Given the description of an element on the screen output the (x, y) to click on. 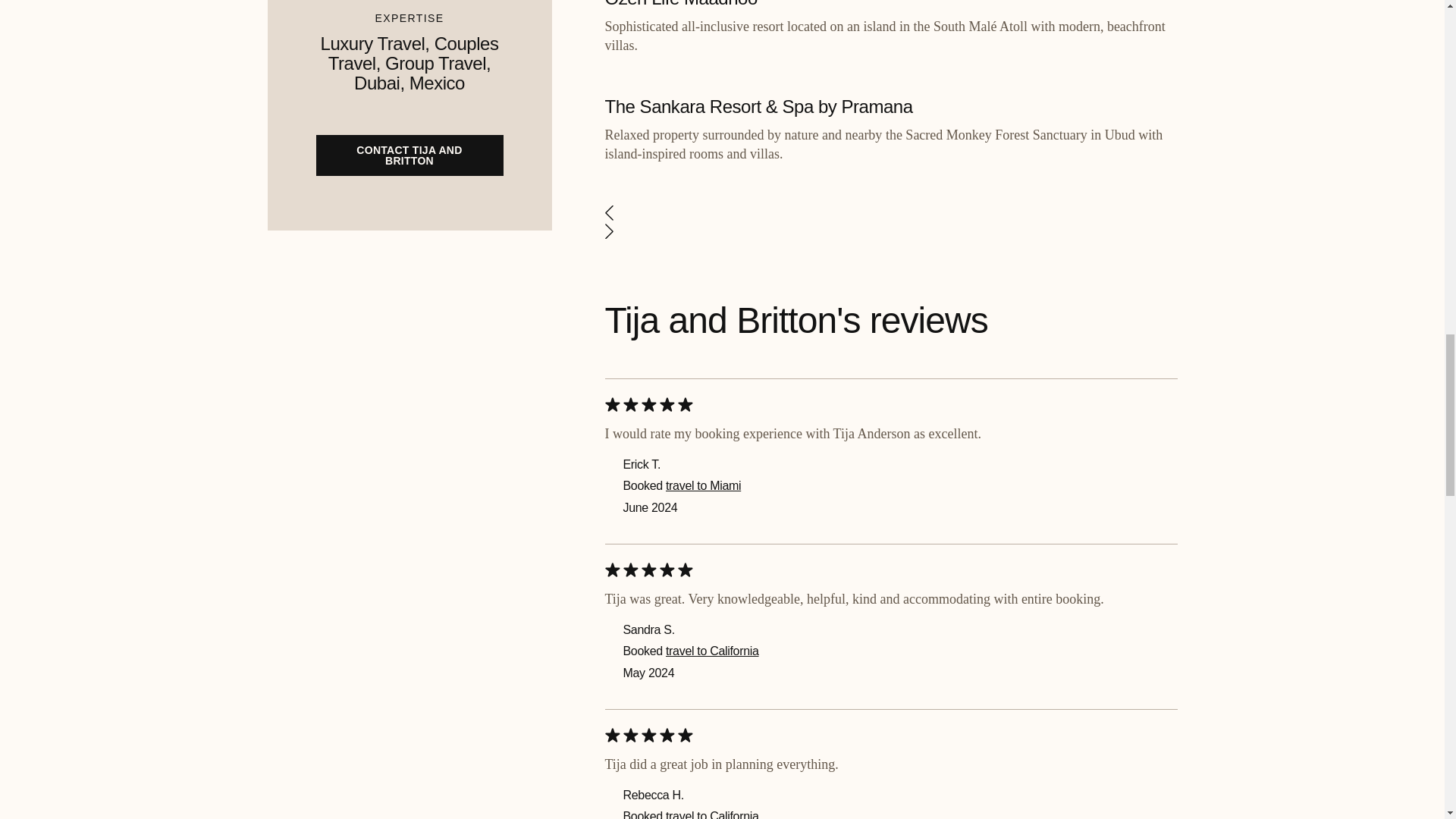
travel to California (711, 650)
travel to California (711, 814)
travel to Miami (703, 485)
